Given the description of an element on the screen output the (x, y) to click on. 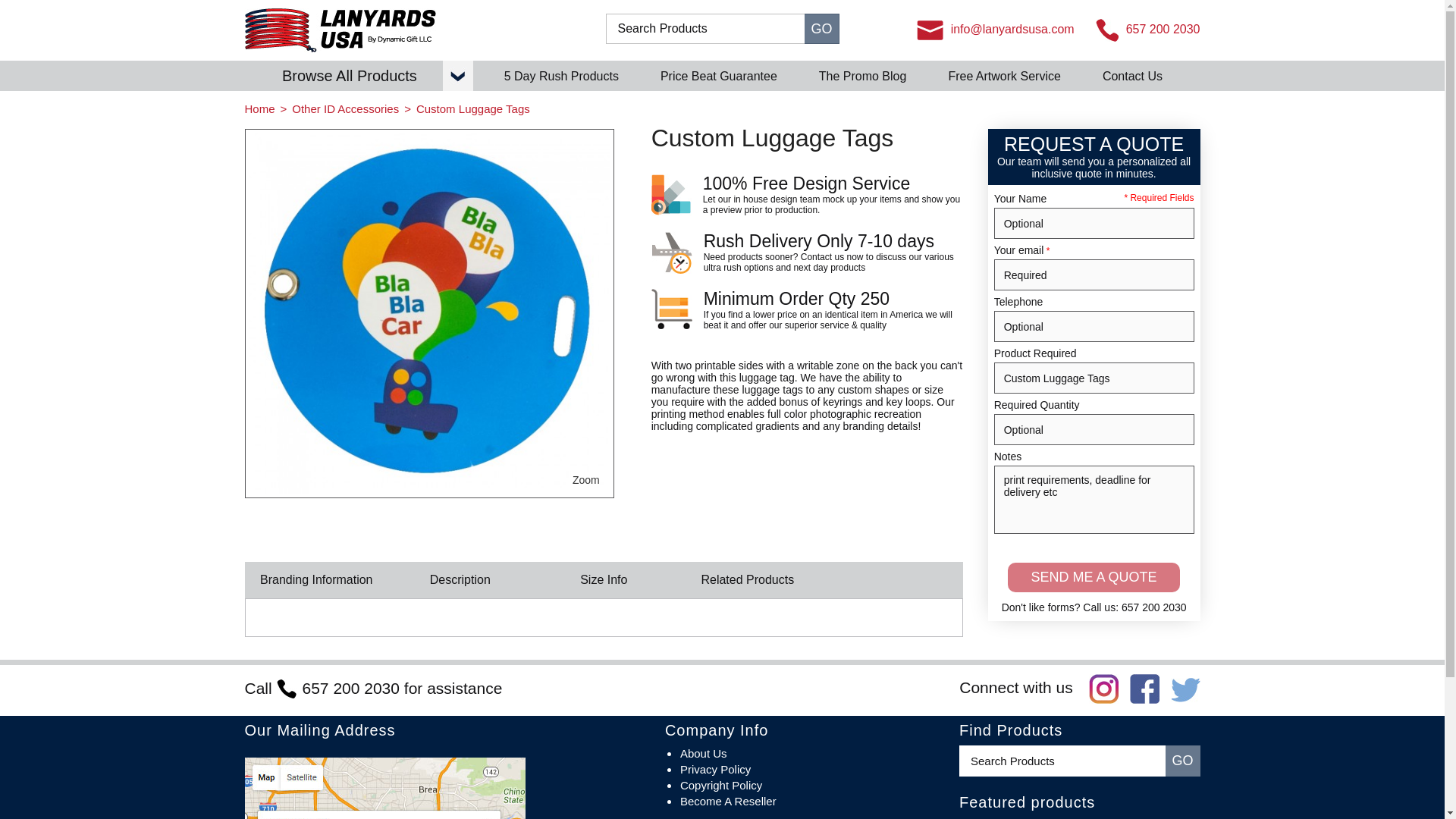
Free Artwork Service (1003, 75)
Custom Luggage Tags (586, 480)
5 Day Rush Products (560, 75)
Custom Luggage Tags (428, 313)
Contact Us (1131, 75)
657 200 2030 (1147, 29)
Custom Luggage Tags (1093, 377)
The Promo Blog (862, 75)
Go to Home Page (259, 108)
GO (820, 28)
